Given the description of an element on the screen output the (x, y) to click on. 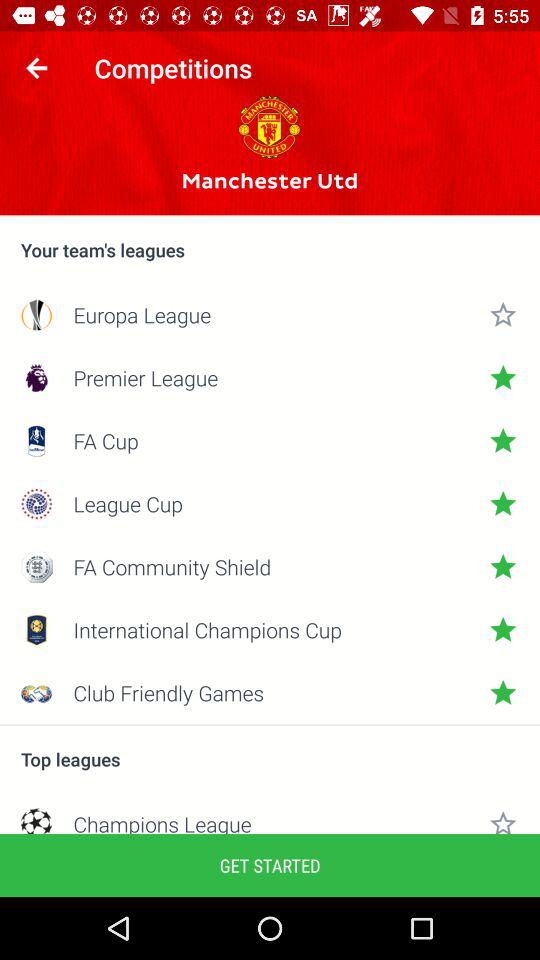
flip to europa league (269, 314)
